Given the description of an element on the screen output the (x, y) to click on. 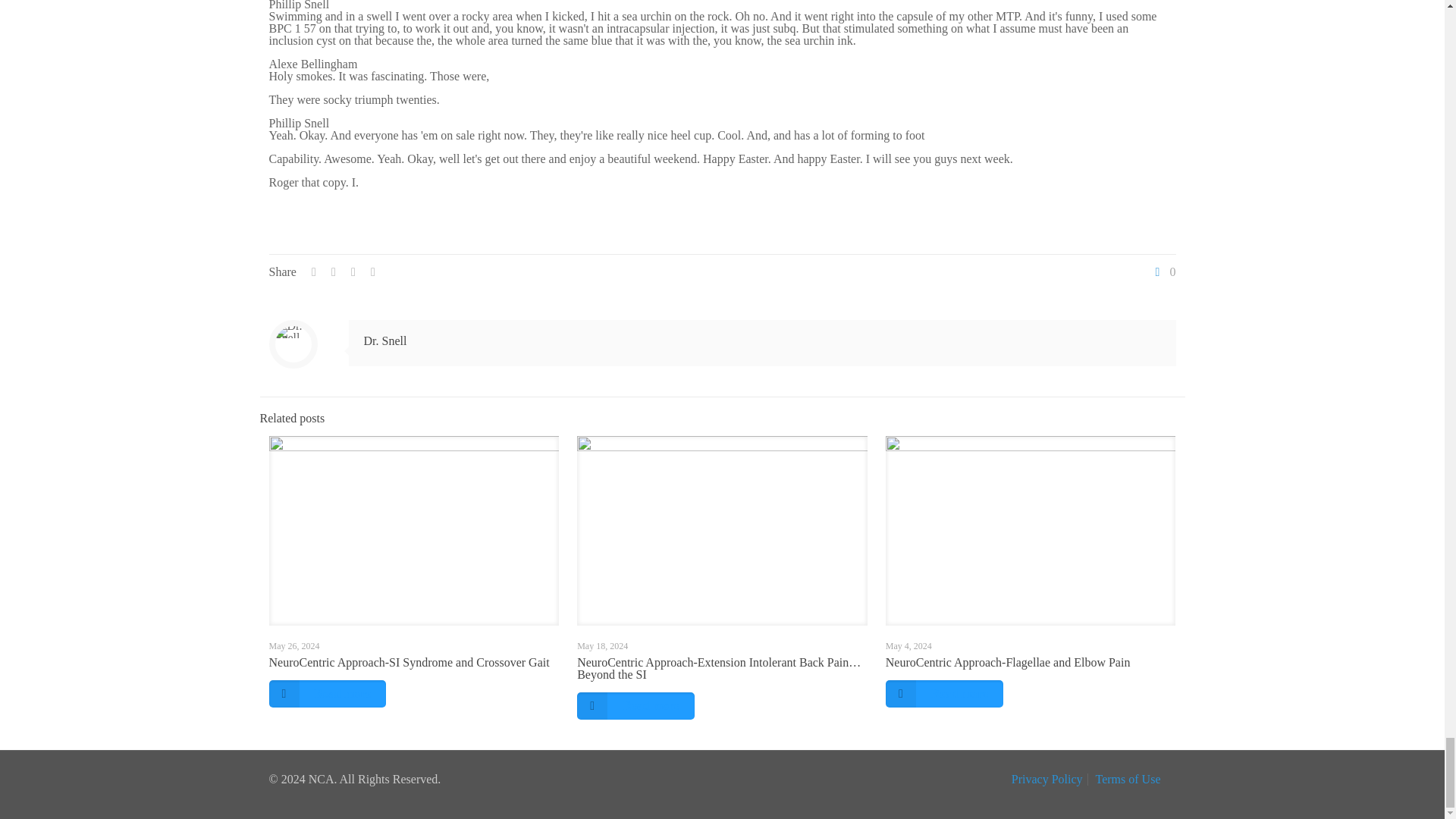
Read more (326, 693)
0 (1162, 272)
NeuroCentric Approach-SI Syndrome and Crossover Gait (407, 662)
Dr. Snell (385, 340)
